Given the description of an element on the screen output the (x, y) to click on. 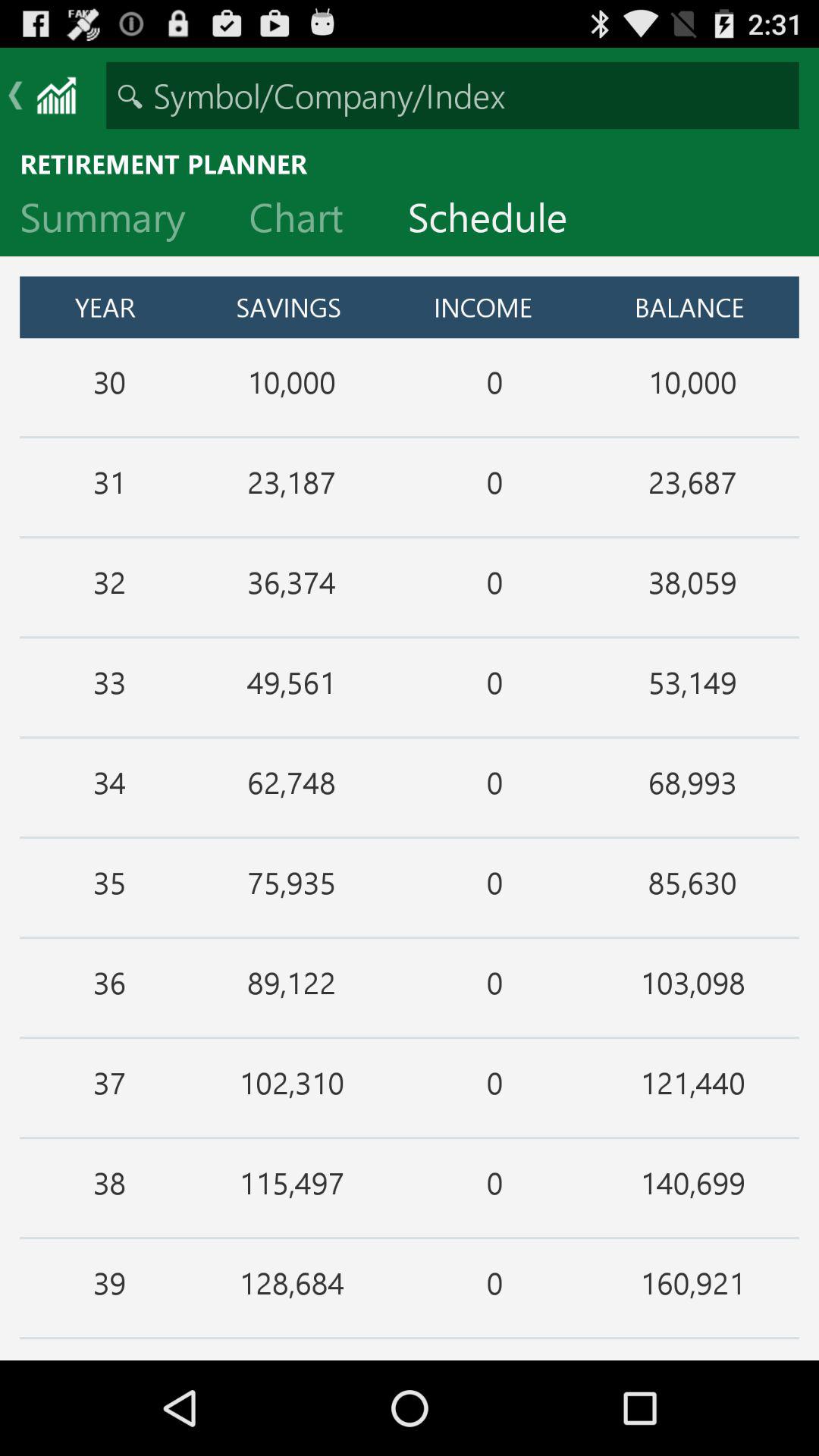
turn on the item next to the schedule (308, 220)
